Given the description of an element on the screen output the (x, y) to click on. 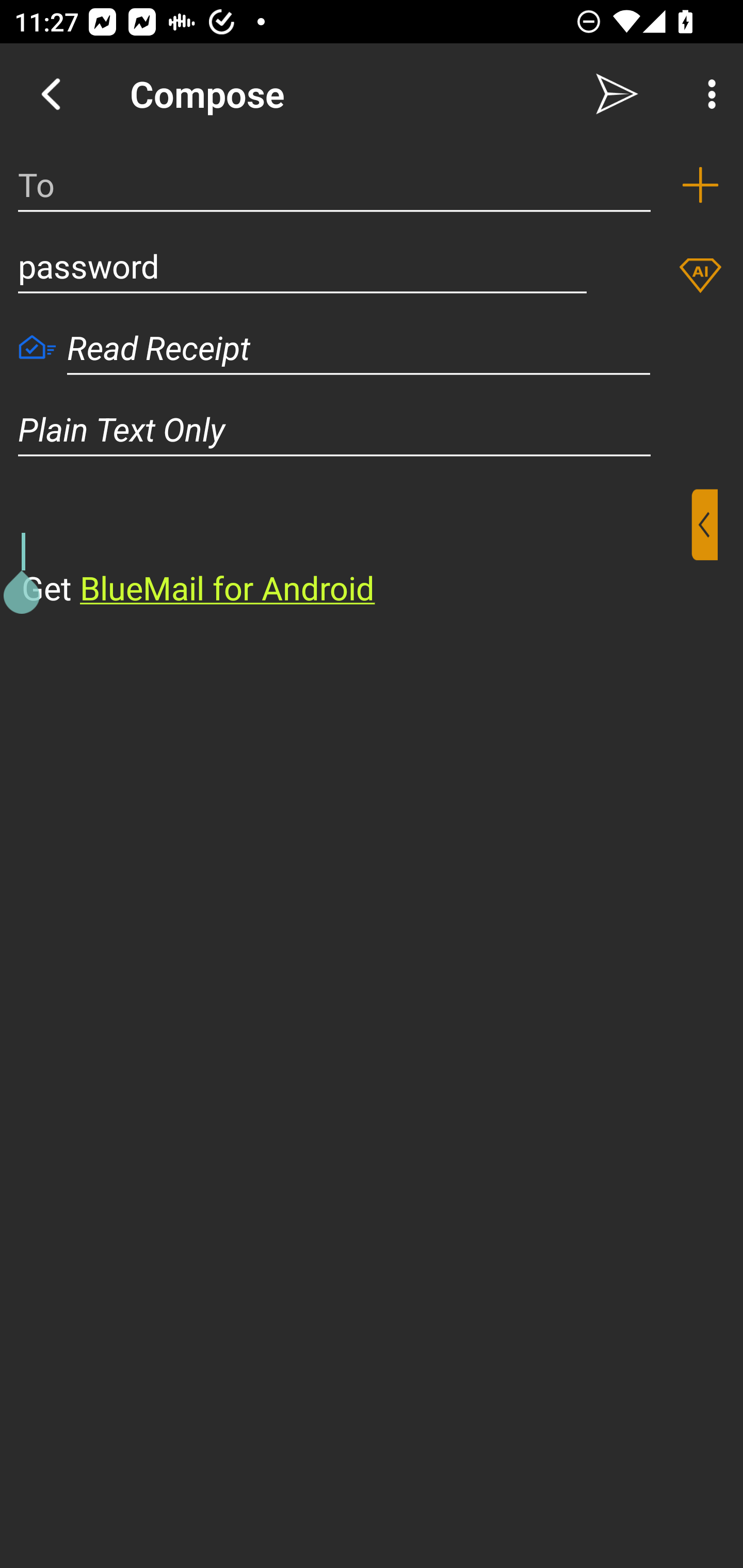
Navigate up (50, 93)
Send (616, 93)
More Options (706, 93)
To (334, 184)
Add recipient (To) (699, 184)
password (302, 266)
Read Receipt (358, 347)
Read Receipt (37, 348)
Plain Text Only (371, 429)


⁣Get BlueMail for Android ​ (355, 549)
